Given the description of an element on the screen output the (x, y) to click on. 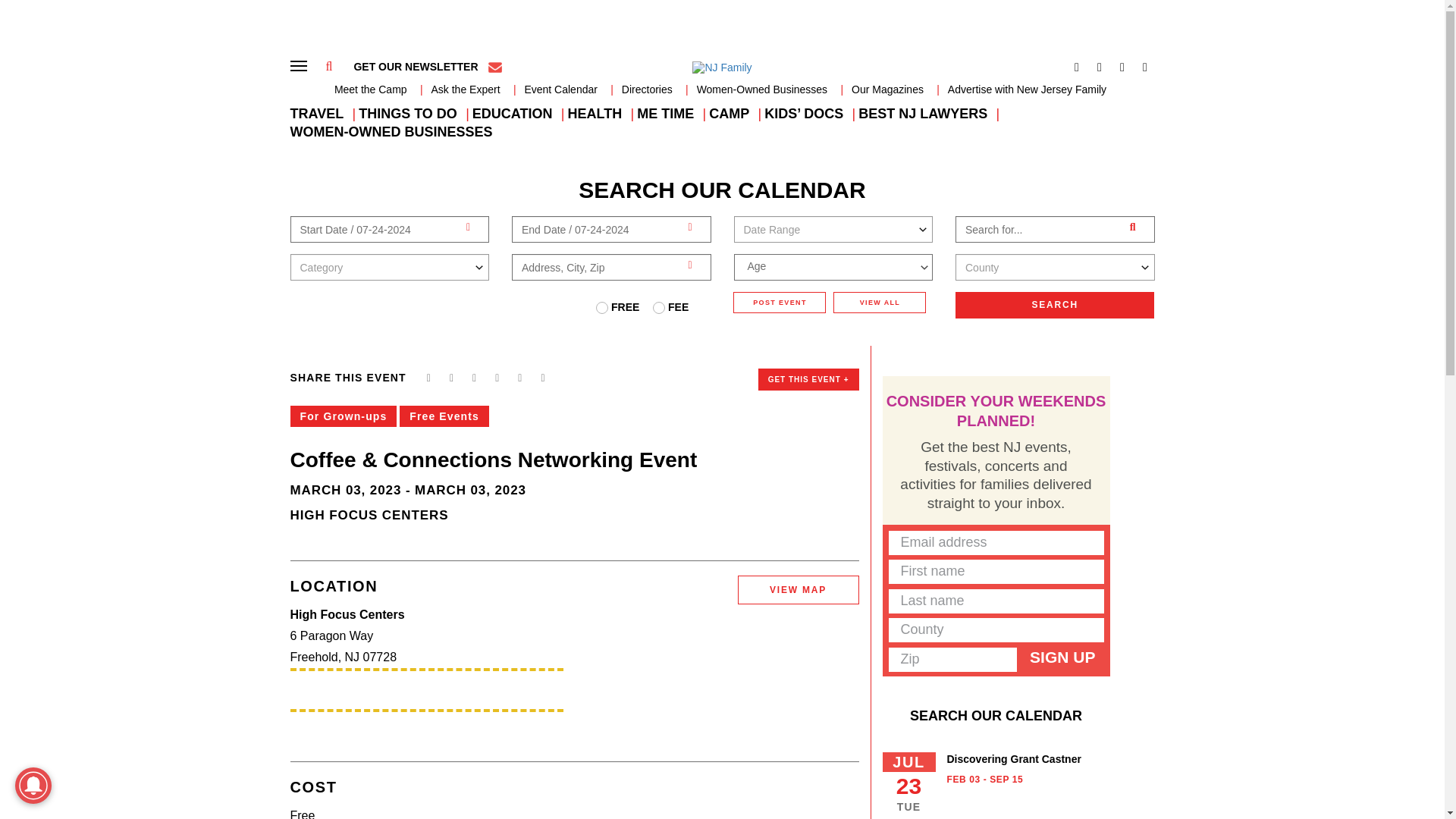
Search (1054, 304)
Age (832, 265)
sign up (1062, 656)
